Given the description of an element on the screen output the (x, y) to click on. 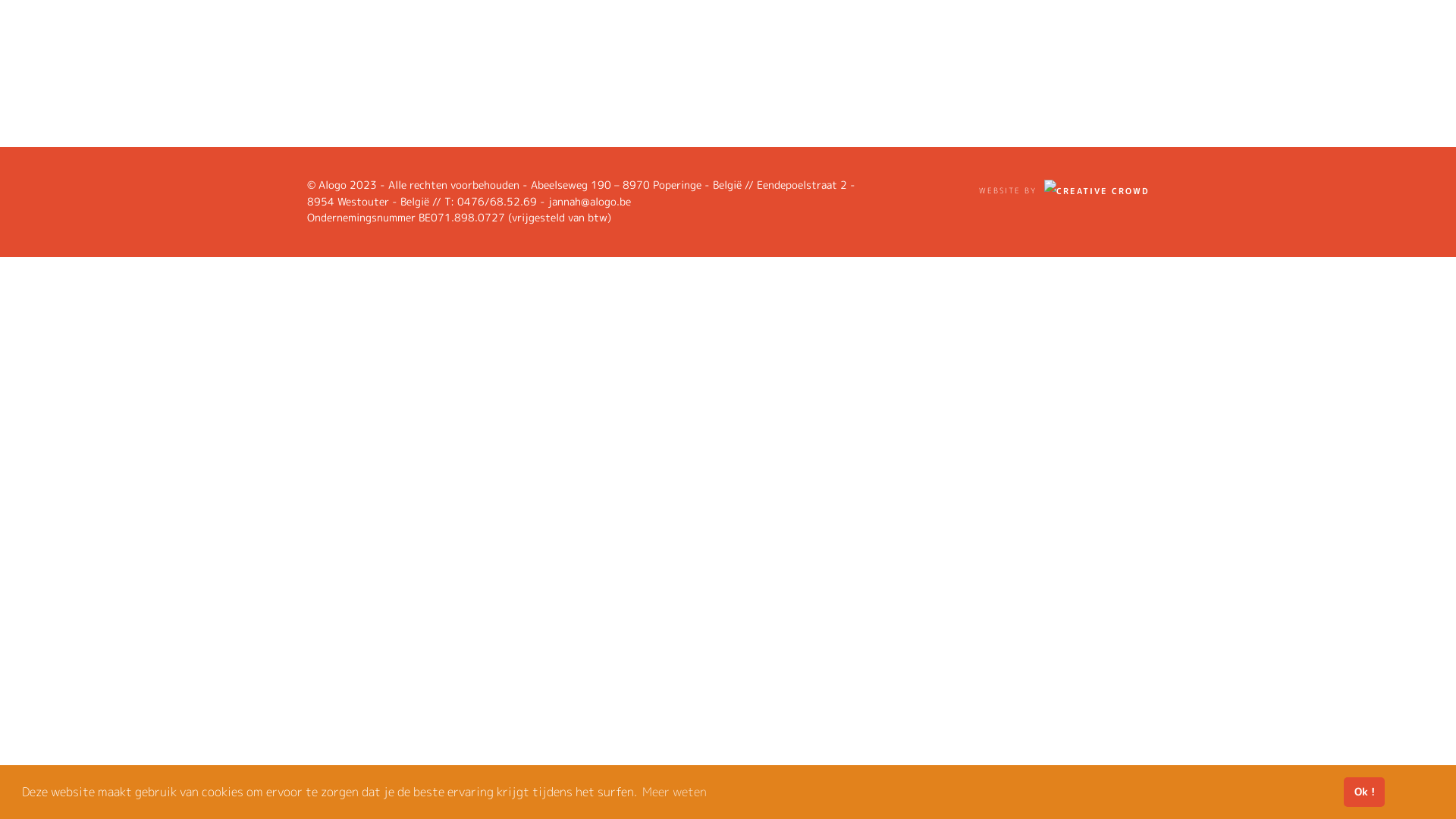
Meer weten Element type: text (674, 791)
Creative Crowd Element type: hover (1096, 190)
Ok ! Element type: text (1363, 791)
